Given the description of an element on the screen output the (x, y) to click on. 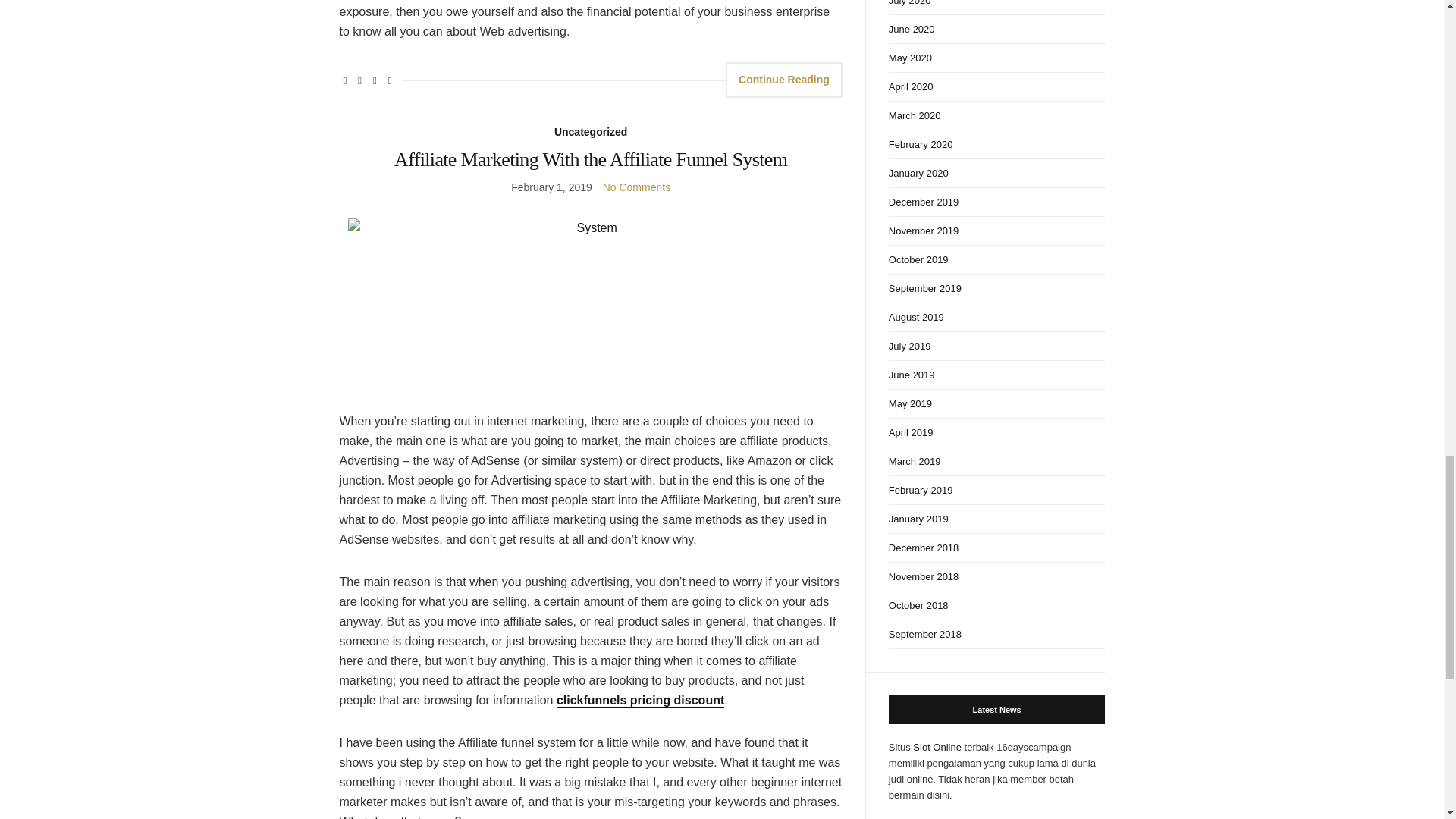
No Comments (635, 186)
clickfunnels pricing discount (639, 700)
Affiliate Marketing With the Affiliate Funnel System (590, 159)
Uncategorized (590, 131)
Continue Reading (784, 79)
